Given the description of an element on the screen output the (x, y) to click on. 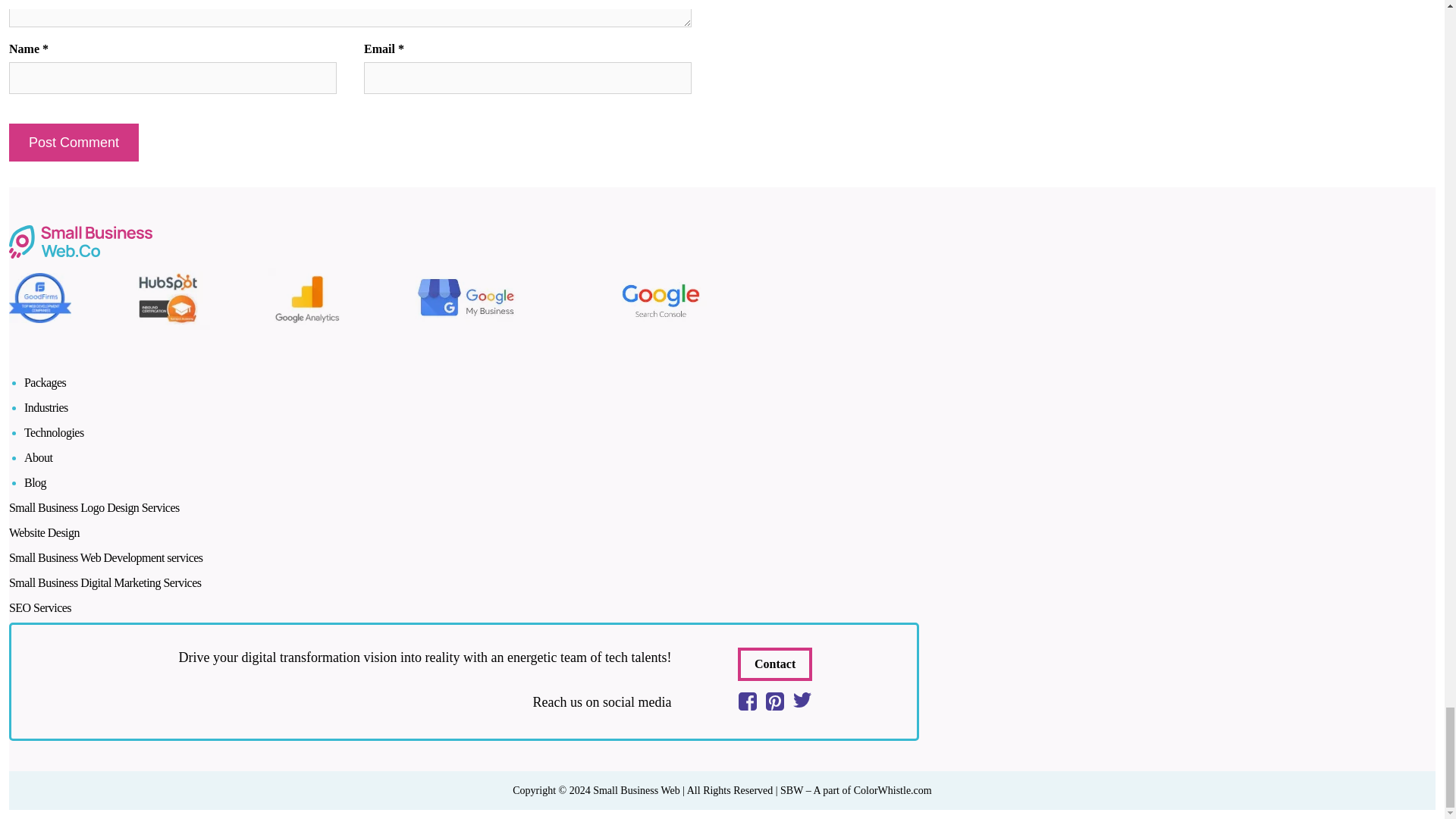
facebook (747, 701)
twitter (801, 699)
Post Comment (73, 142)
Our Experts Certifications - Small Business Web (370, 299)
pinterest (774, 701)
